Given the description of an element on the screen output the (x, y) to click on. 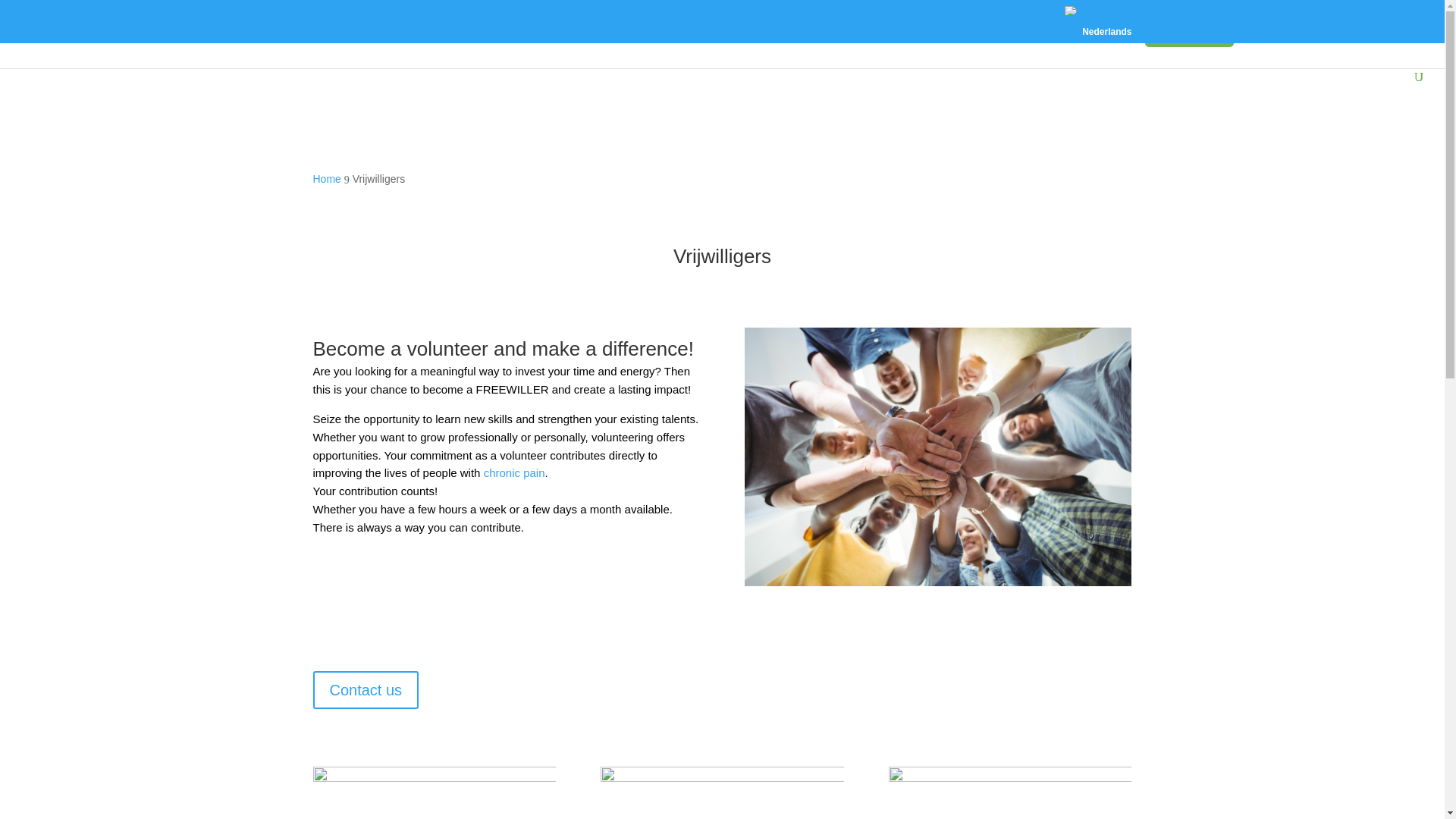
chronic pain (513, 472)
Vrijwilligers (1189, 35)
social media (1009, 792)
redacteur (433, 792)
Home (326, 178)
9 (721, 792)
Nederlands (1071, 10)
Nederlands (1096, 24)
